Given the description of an element on the screen output the (x, y) to click on. 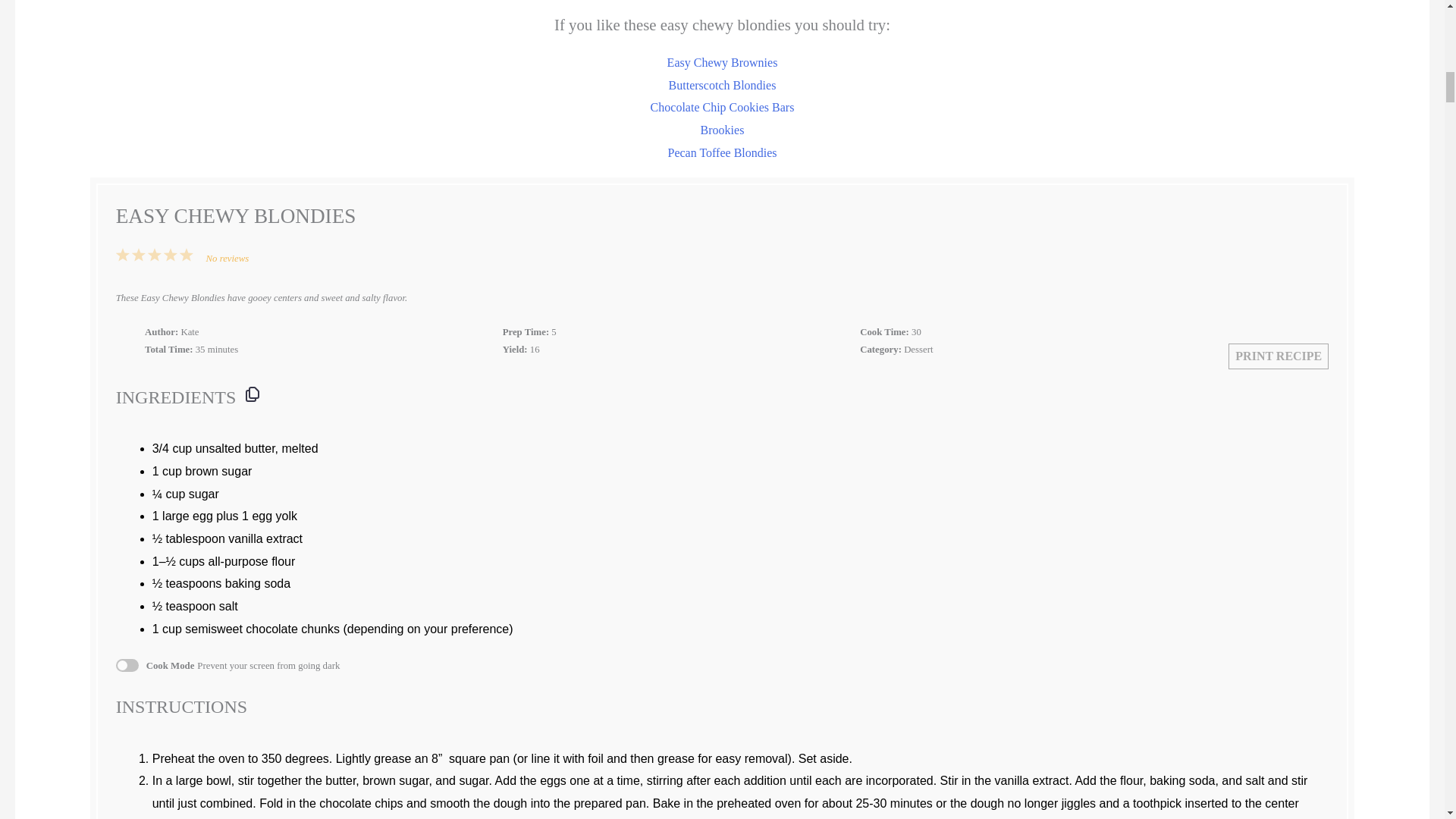
Copy to clipboard Copy to clipboard (252, 393)
